Given the description of an element on the screen output the (x, y) to click on. 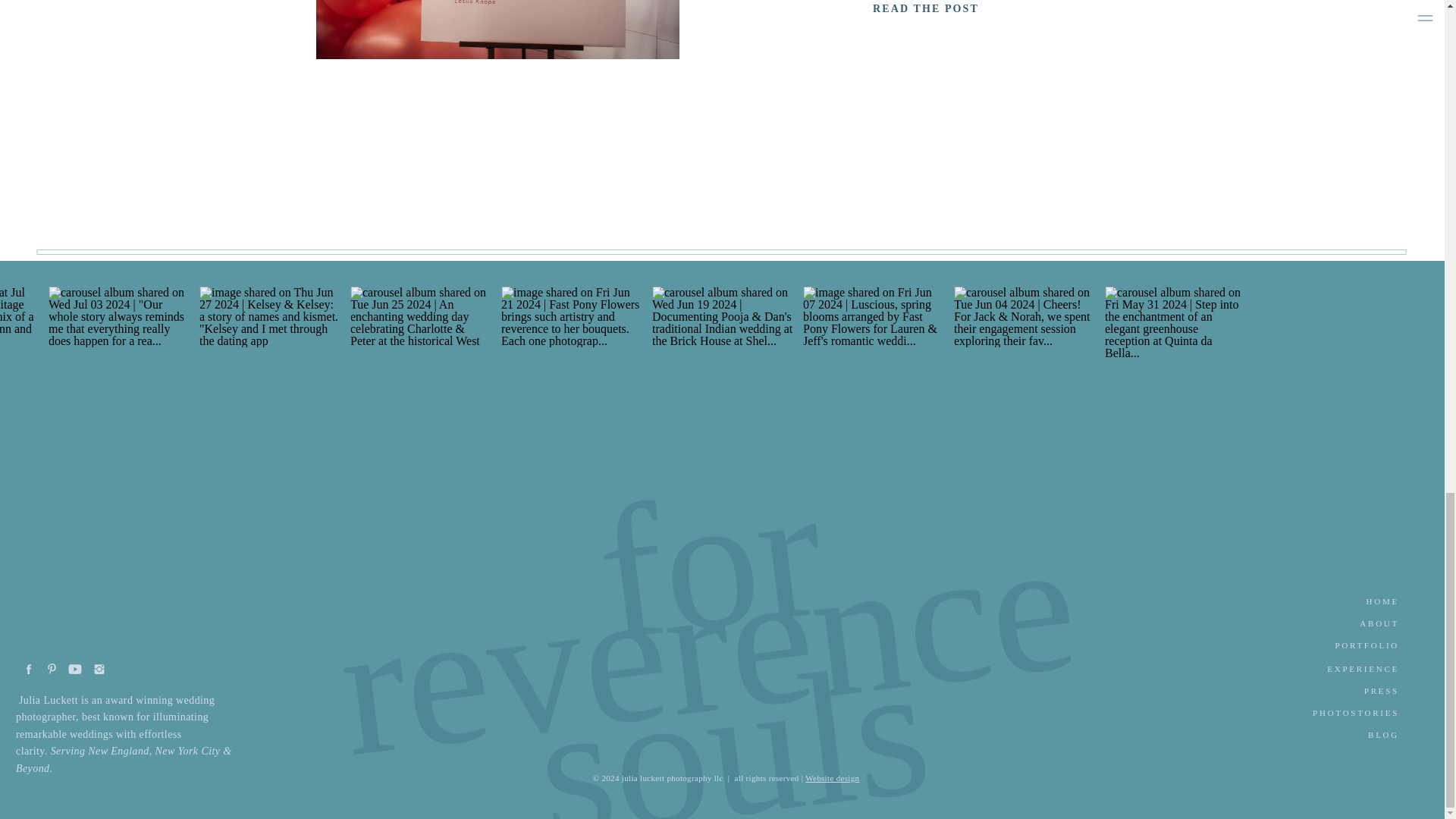
READ THE POST (926, 9)
